Given the description of an element on the screen output the (x, y) to click on. 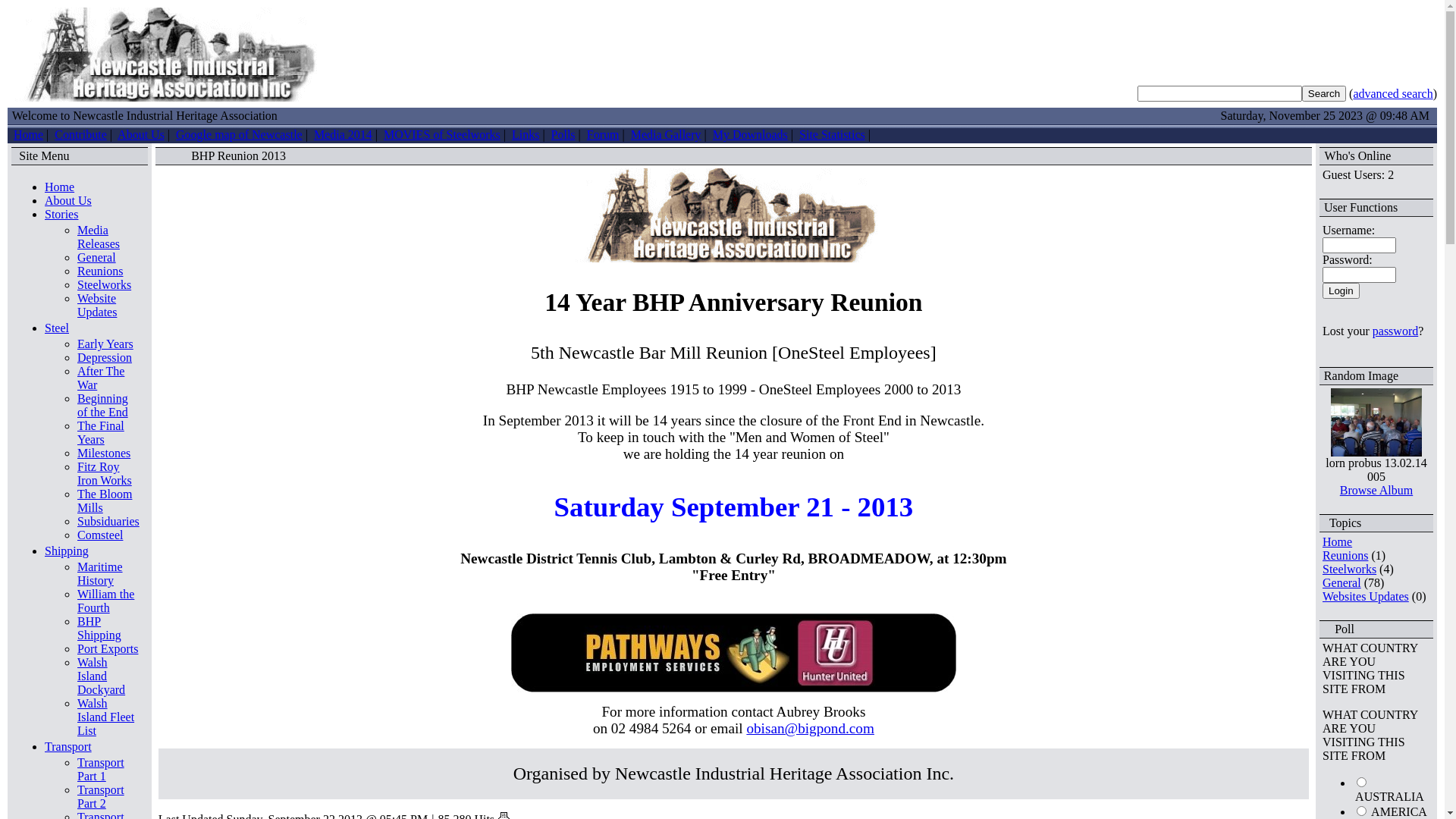
Browse Album Element type: text (1375, 489)
BHP Shipping Element type: text (99, 628)
Transport Element type: text (67, 746)
Links Element type: text (525, 134)
The Final Years Element type: text (100, 432)
Media Gallery Element type: text (665, 134)
password Element type: text (1395, 330)
Reunions Element type: text (1345, 555)
Steelworks Element type: text (104, 284)
Subsiduaries Element type: text (108, 520)
Beginning of the End Element type: text (102, 405)
Steelworks Element type: text (1349, 568)
Forum Element type: text (602, 134)
William the Fourth Element type: text (105, 600)
Contribute Element type: text (80, 134)
Home Element type: text (59, 186)
Fitz Roy Iron Works Element type: text (104, 473)
lorn probus 13.02.14 005 Element type: hover (1375, 422)
MOVIES of Steelworks Element type: text (441, 134)
General Element type: text (96, 257)
Transport Part 2 Element type: text (100, 796)
About Us Element type: text (67, 200)
Maritime History Element type: text (99, 573)
Comsteel Element type: text (99, 534)
Search Element type: text (1324, 93)
Polls Element type: text (563, 134)
After The War Element type: text (100, 377)
About Us Element type: text (140, 134)
Google map of Newcastle Element type: text (238, 134)
Websites Updates Element type: text (1365, 595)
Transport Part 1 Element type: text (100, 769)
My Downloads Element type: text (749, 134)
Stories Element type: text (61, 213)
advanced search Element type: text (1392, 92)
Website Updates Element type: text (96, 304)
Port Exports Element type: text (107, 648)
obisan@bigpond.com Element type: text (810, 728)
Walsh Island Fleet List Element type: text (105, 716)
Walsh Island Dockyard Element type: text (101, 675)
Media 2014 Element type: text (342, 134)
Home Element type: text (28, 134)
Site Statistics Element type: text (832, 134)
Milestones Element type: text (103, 452)
The Bloom Mills Element type: text (104, 500)
Media Releases Element type: text (98, 236)
Depression Element type: text (104, 357)
Steel Element type: text (56, 327)
Login Element type: text (1340, 290)
Home Element type: text (1337, 541)
Early Years Element type: text (105, 343)
Shipping Element type: text (66, 550)
General Element type: text (1341, 582)
Reunions Element type: text (99, 270)
